Given the description of an element on the screen output the (x, y) to click on. 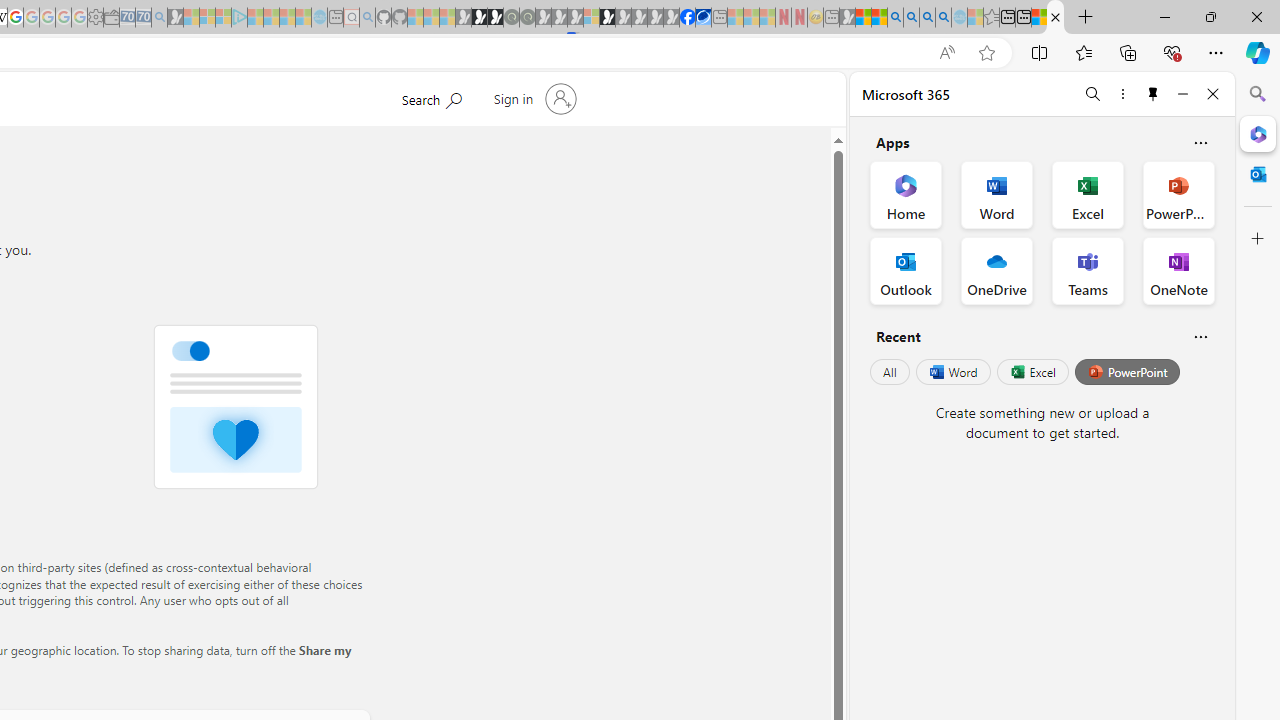
OneDrive Office App (996, 270)
Outlook Office App (906, 270)
Word (952, 372)
Home Office App (906, 194)
AirNow.gov (703, 17)
